Given the description of an element on the screen output the (x, y) to click on. 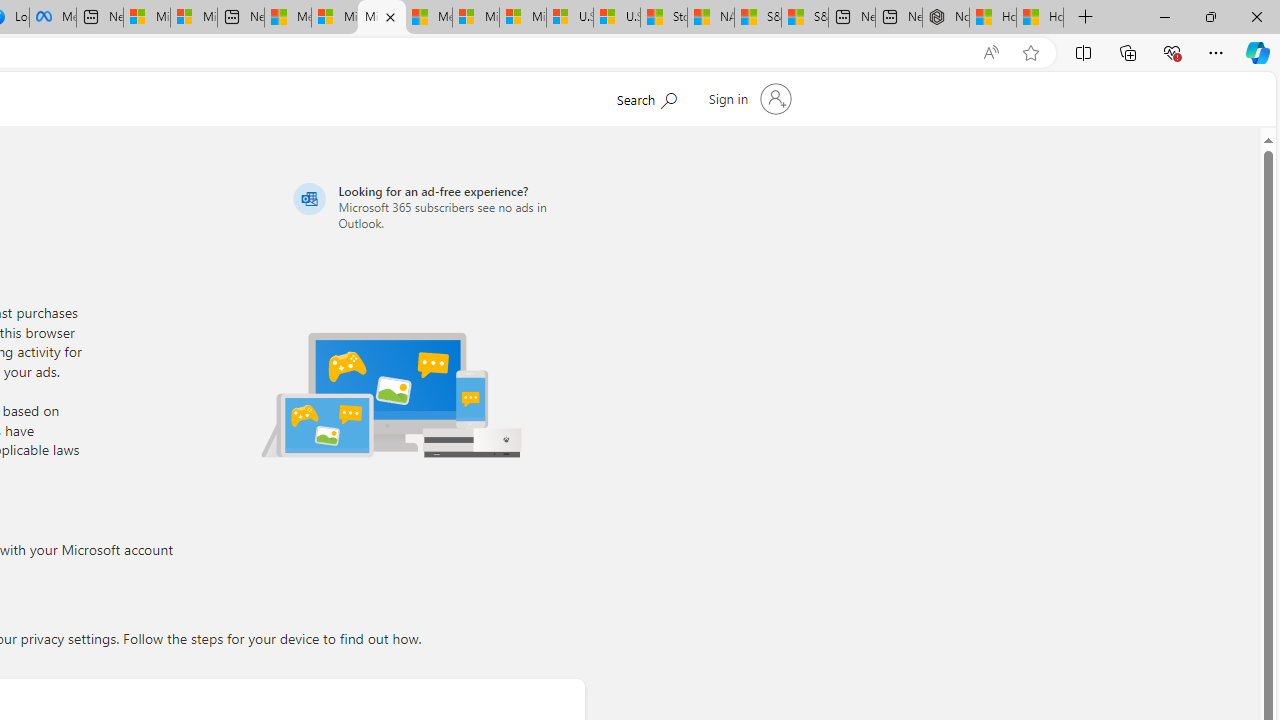
Split screen (1083, 52)
Copilot (Ctrl+Shift+.) (1258, 52)
Looking for an ad-free experience? (436, 206)
Close tab (390, 16)
Minimize (1164, 16)
Microsoft account | Privacy (381, 17)
S&P 500, Nasdaq end lower, weighed by Nvidia dip | Watch (805, 17)
Search Microsoft.com (646, 97)
Meta Store (52, 17)
